Given the description of an element on the screen output the (x, y) to click on. 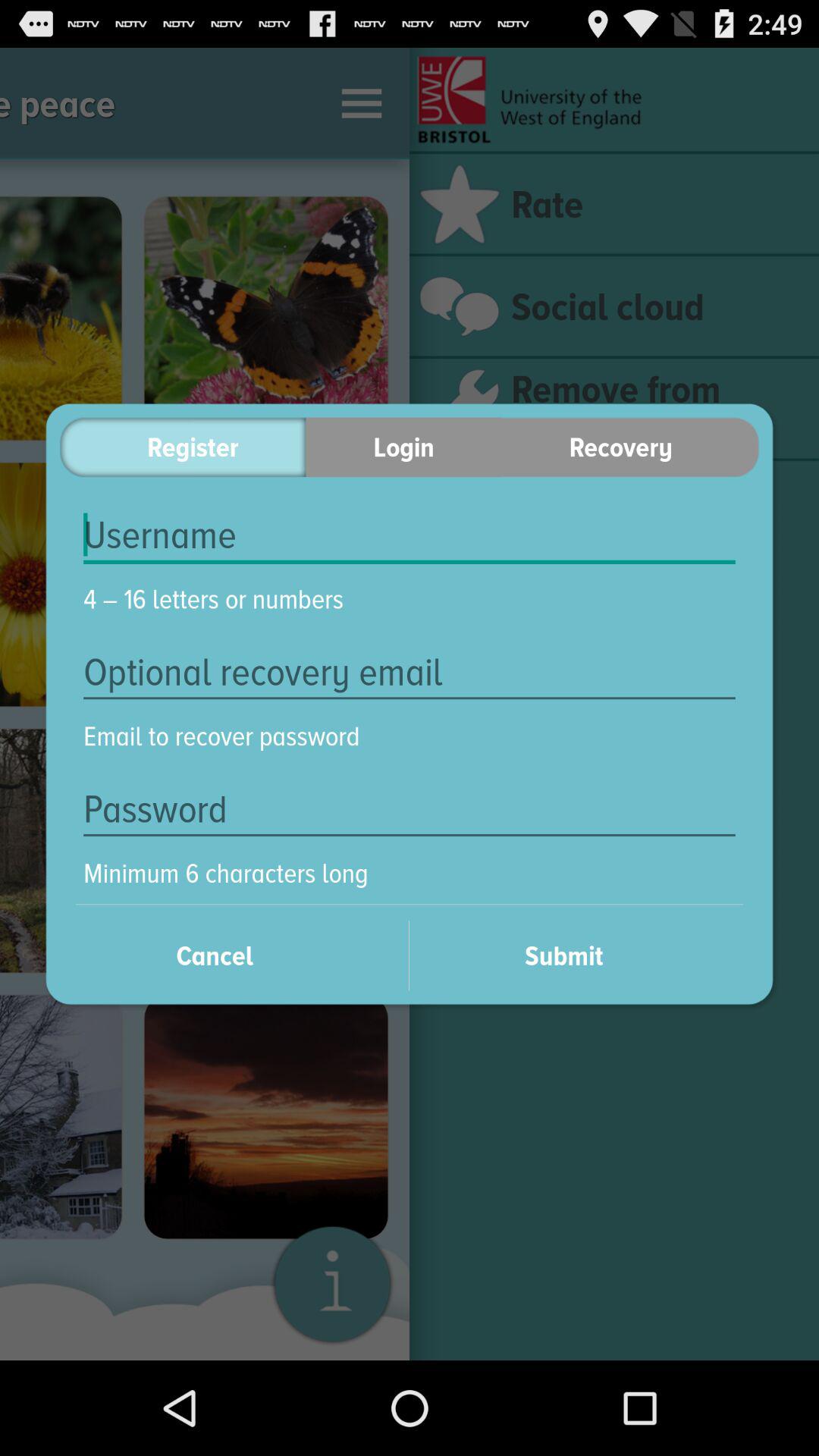
tap icon next to login icon (630, 447)
